Given the description of an element on the screen output the (x, y) to click on. 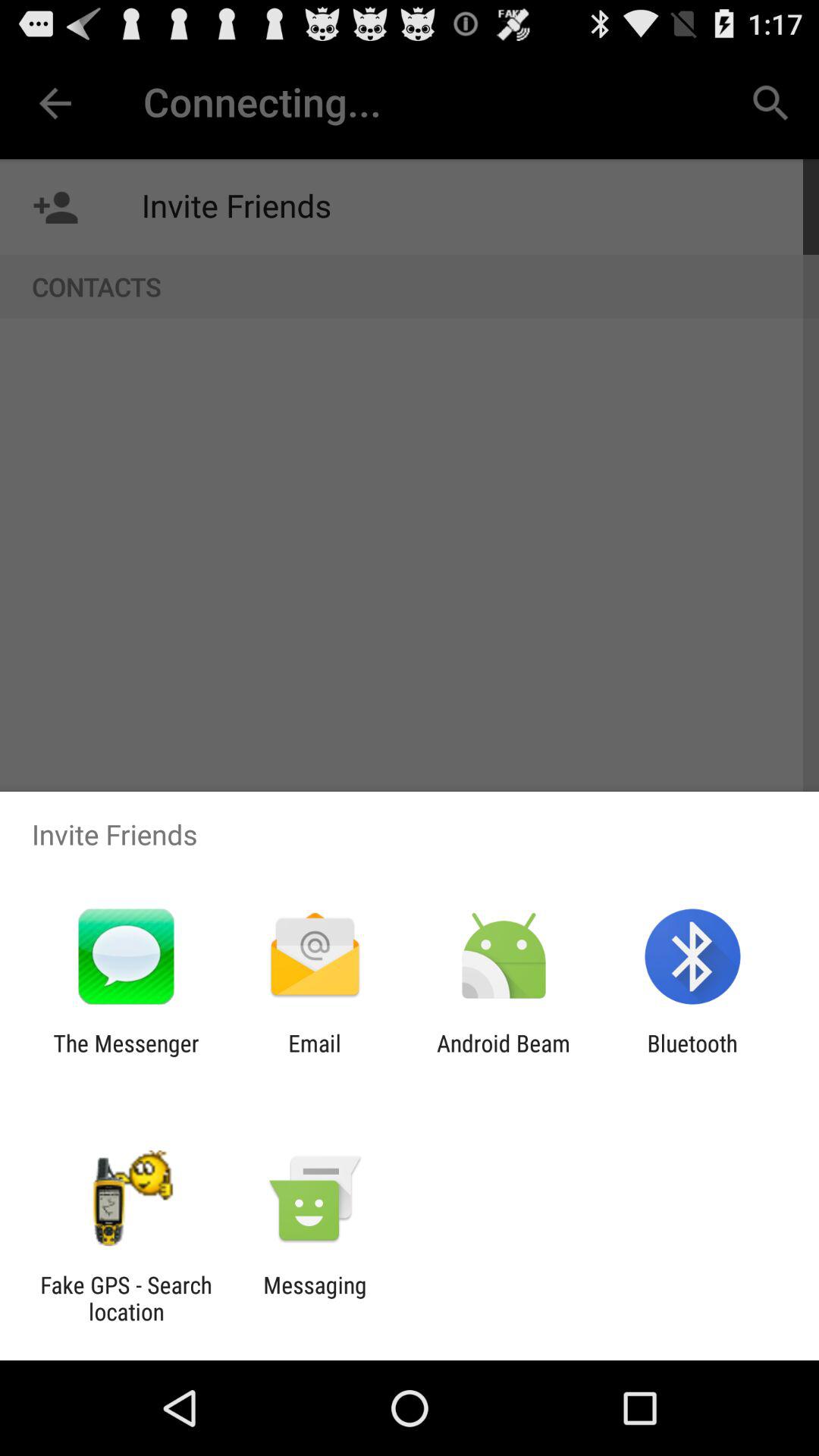
tap the icon to the right of the email icon (503, 1056)
